Given the description of an element on the screen output the (x, y) to click on. 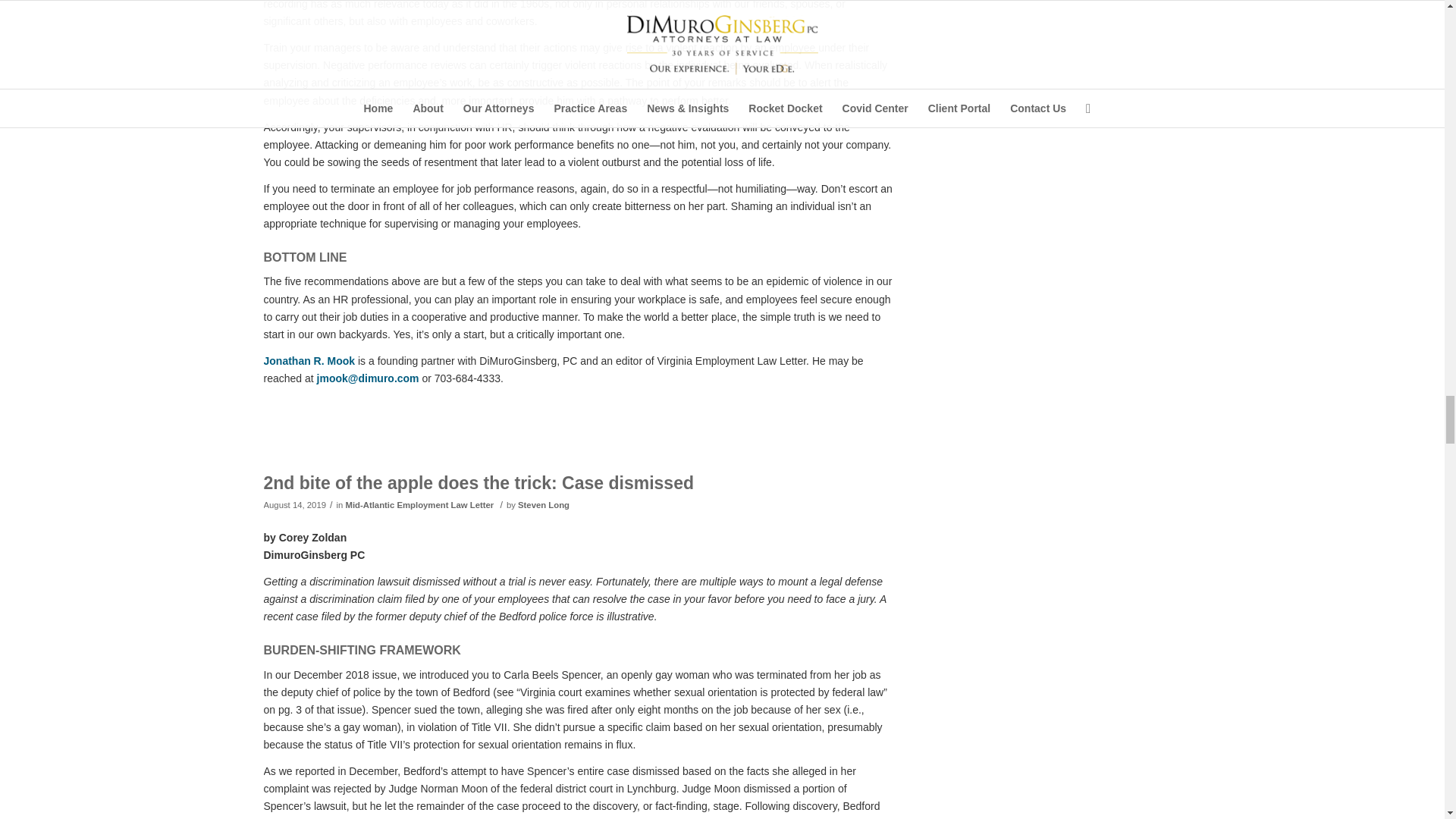
Posts by Steven Long (543, 504)
